Given the description of an element on the screen output the (x, y) to click on. 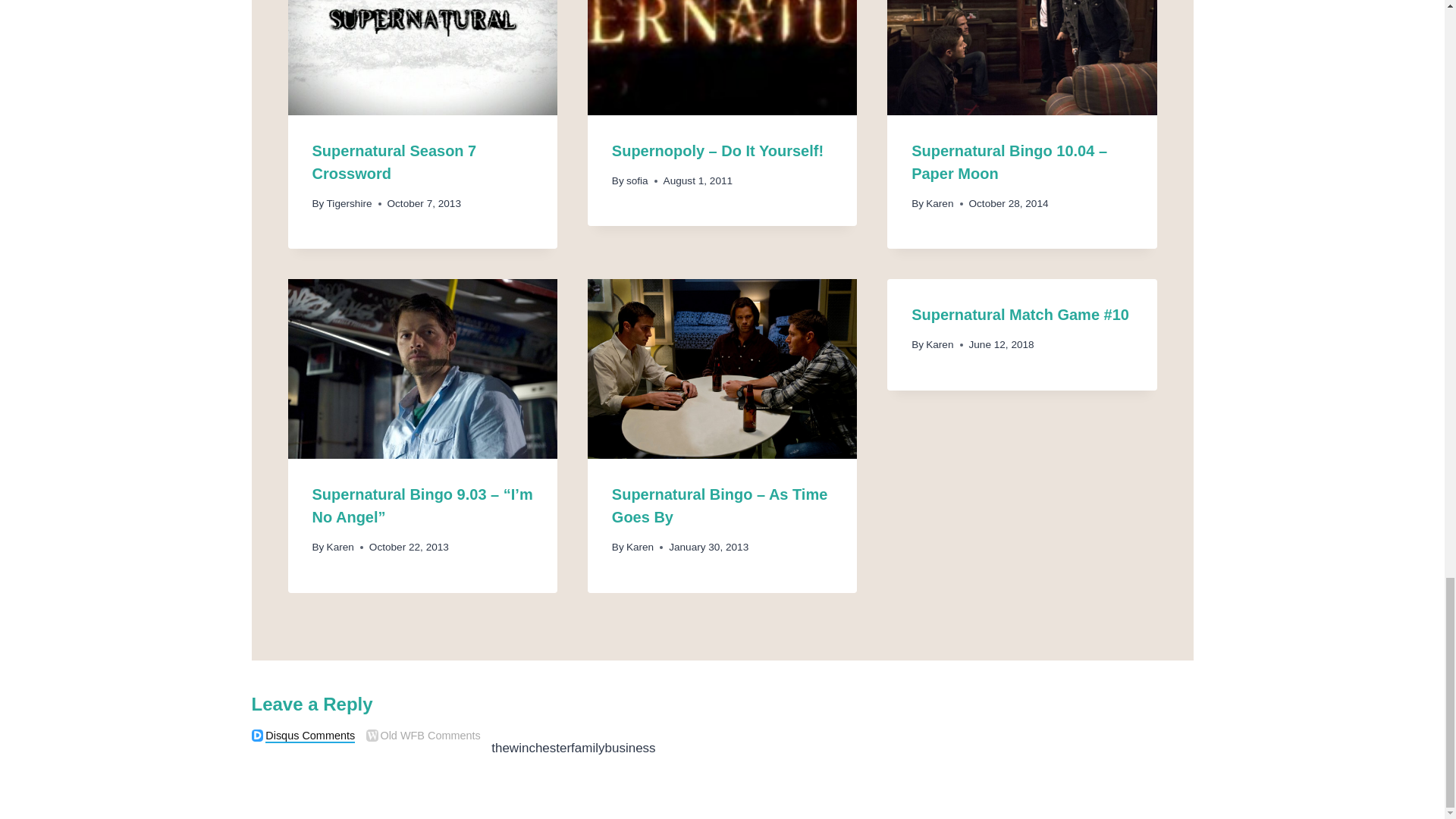
Tigershire (349, 203)
Supernatural Season 7 Crossword (395, 161)
Disqus Comments (257, 735)
Old WFB Comments (372, 735)
